Given the description of an element on the screen output the (x, y) to click on. 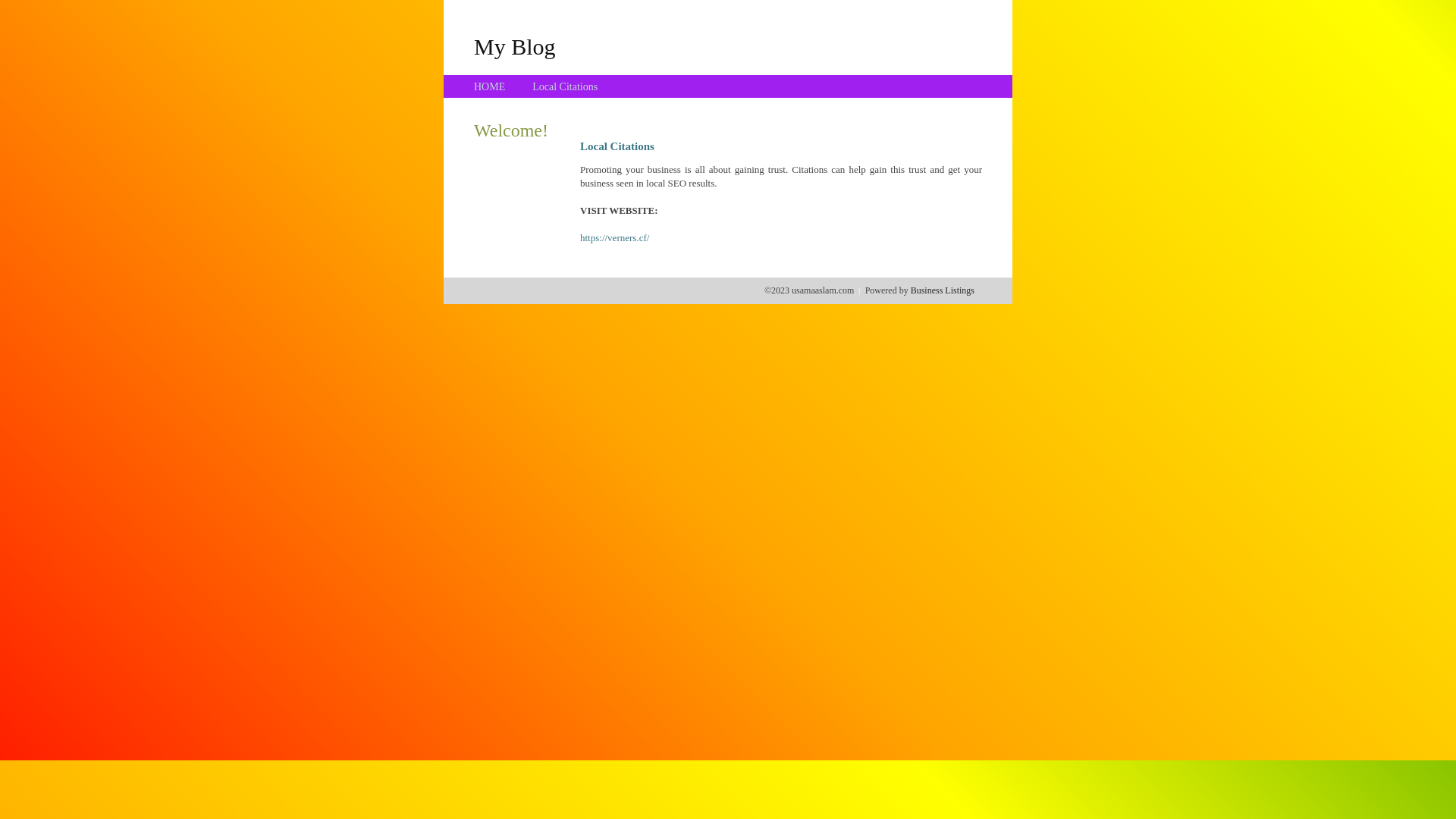
Local Citations Element type: text (564, 86)
https://verners.cf/ Element type: text (614, 237)
My Blog Element type: text (514, 46)
HOME Element type: text (489, 86)
Business Listings Element type: text (942, 290)
